Given the description of an element on the screen output the (x, y) to click on. 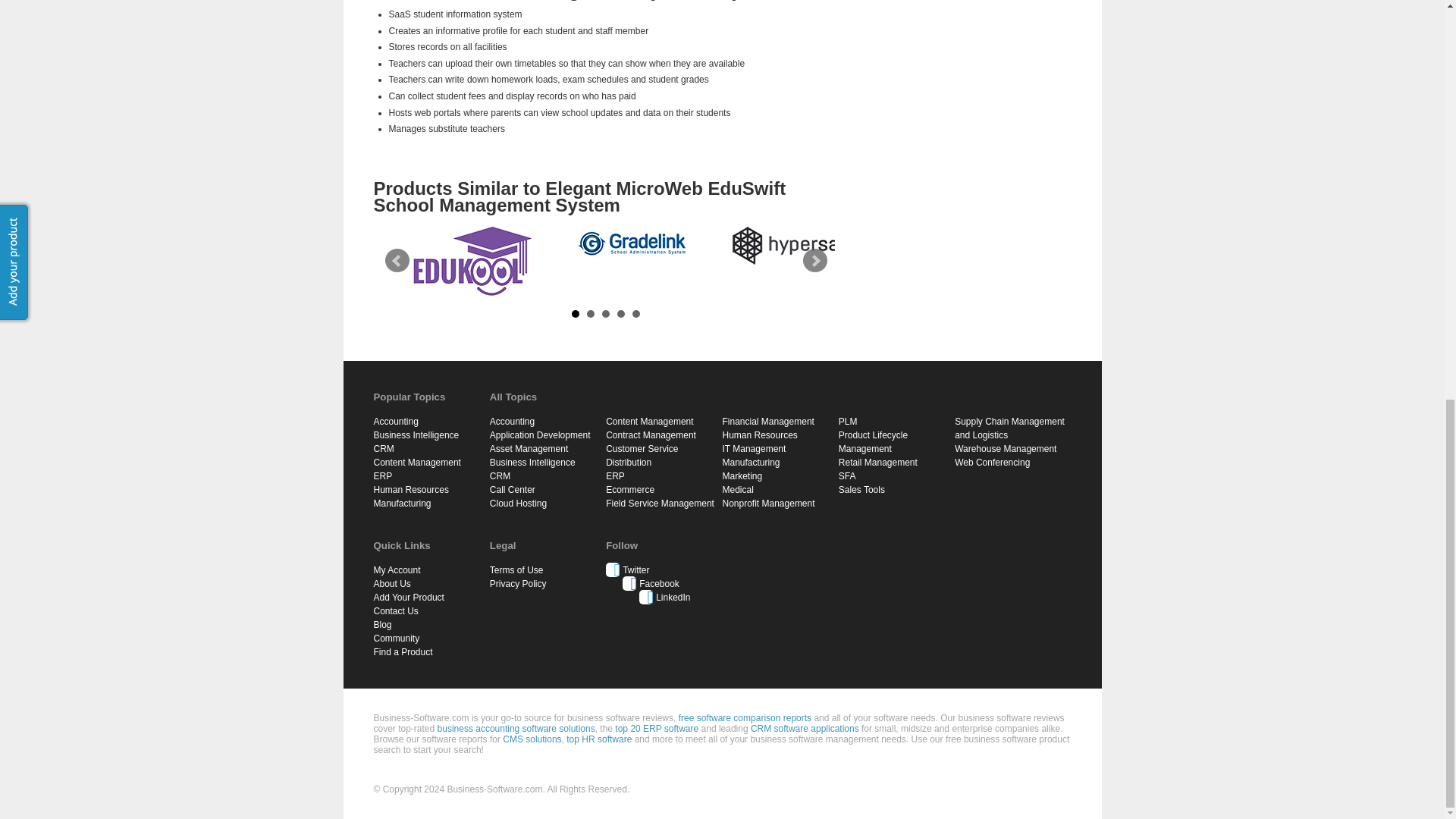
Gradelink (631, 241)
Lean Forward Hypersay (789, 245)
Dot Com Infoway Edukool (471, 260)
Lean Forward Hypersay (790, 245)
Gradelink (630, 241)
Dot Com Infoway Edukool (472, 260)
Super Technologies Inc School Management System (312, 268)
